Given the description of an element on the screen output the (x, y) to click on. 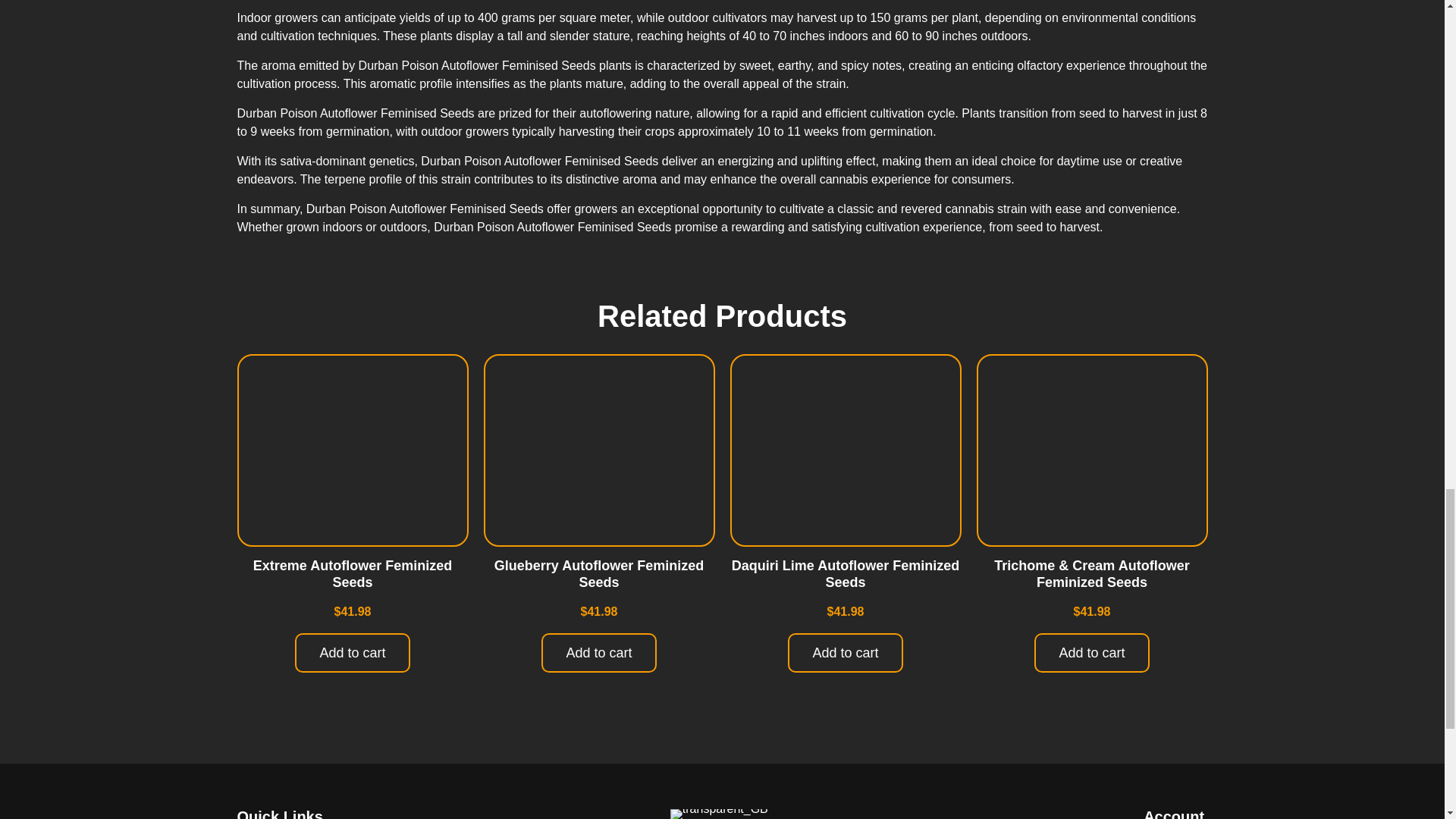
Add to cart (598, 652)
Add to cart (1090, 652)
Glueberry Autoflower Feminized Seeds (599, 573)
Daquiri Lime Autoflower Feminized Seeds (845, 573)
Add to cart (844, 652)
Add to cart (352, 652)
Extreme Autoflower Feminized Seeds (352, 573)
